Given the description of an element on the screen output the (x, y) to click on. 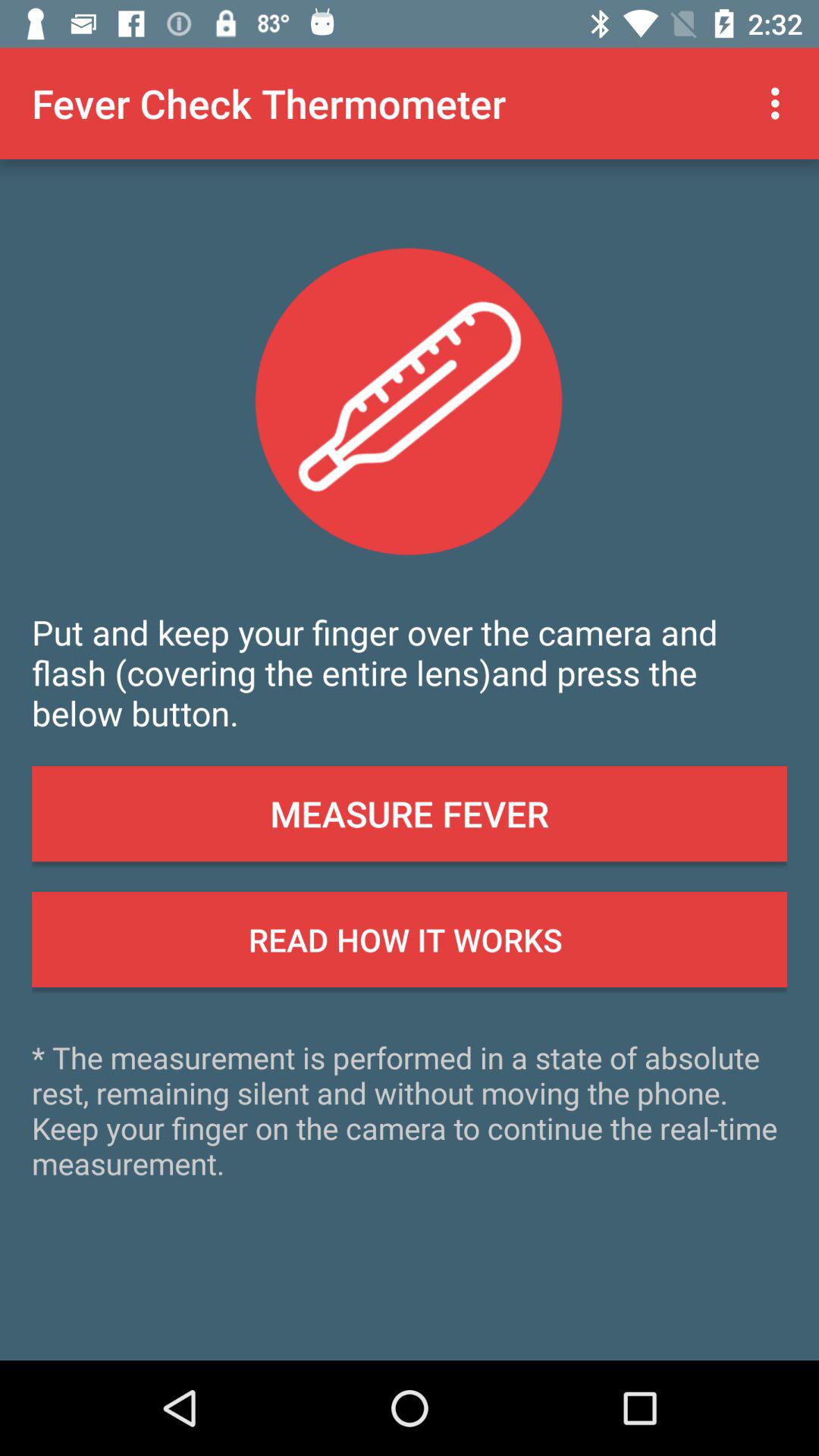
turn off item at the top right corner (779, 103)
